Given the description of an element on the screen output the (x, y) to click on. 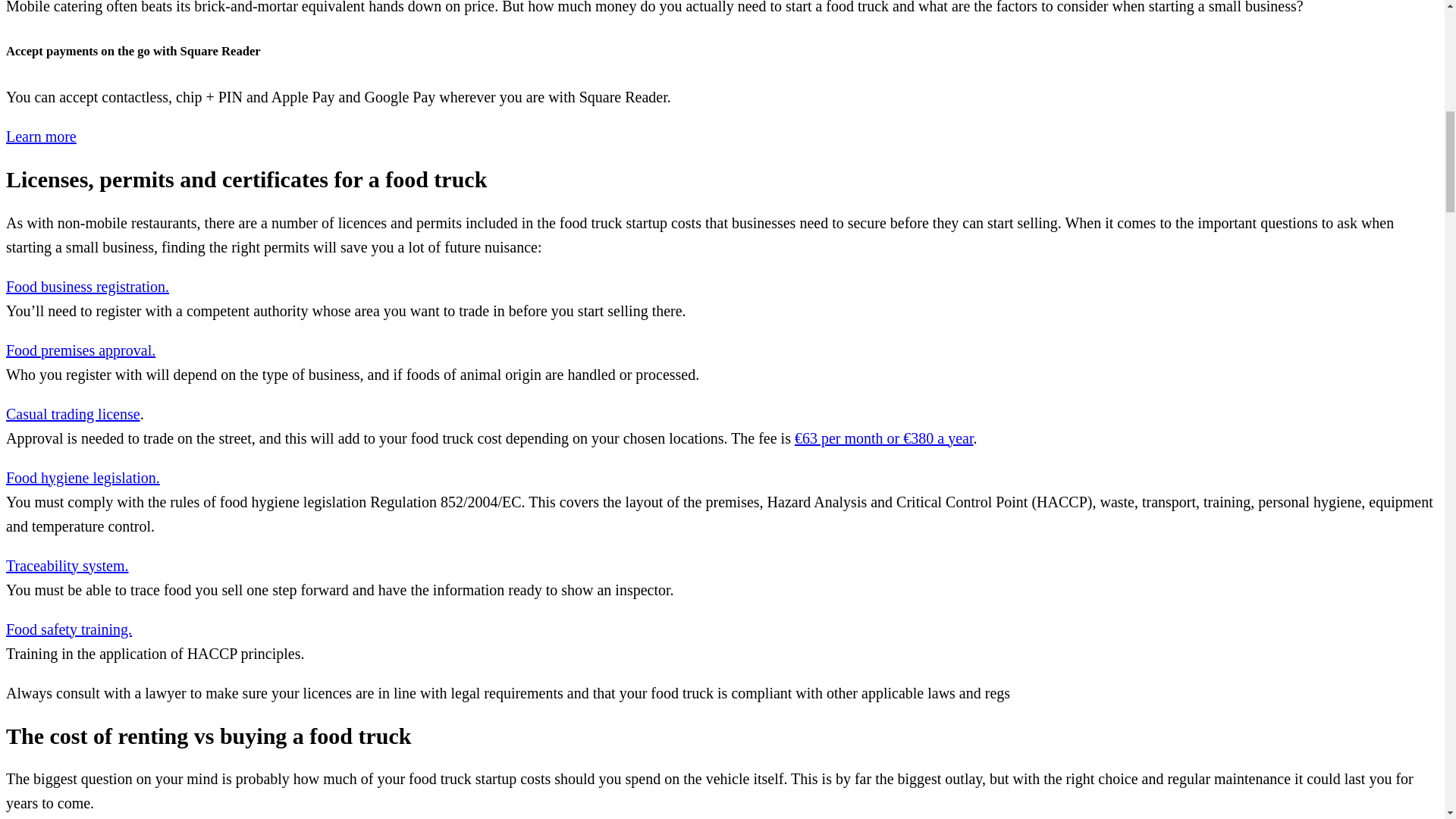
Casual trading license (72, 413)
Learn more (41, 135)
Food hygiene legislation. (82, 477)
Food premises approval. (80, 350)
Food business registration. (86, 286)
Traceability system. (66, 565)
Food safety training. (68, 629)
